Given the description of an element on the screen output the (x, y) to click on. 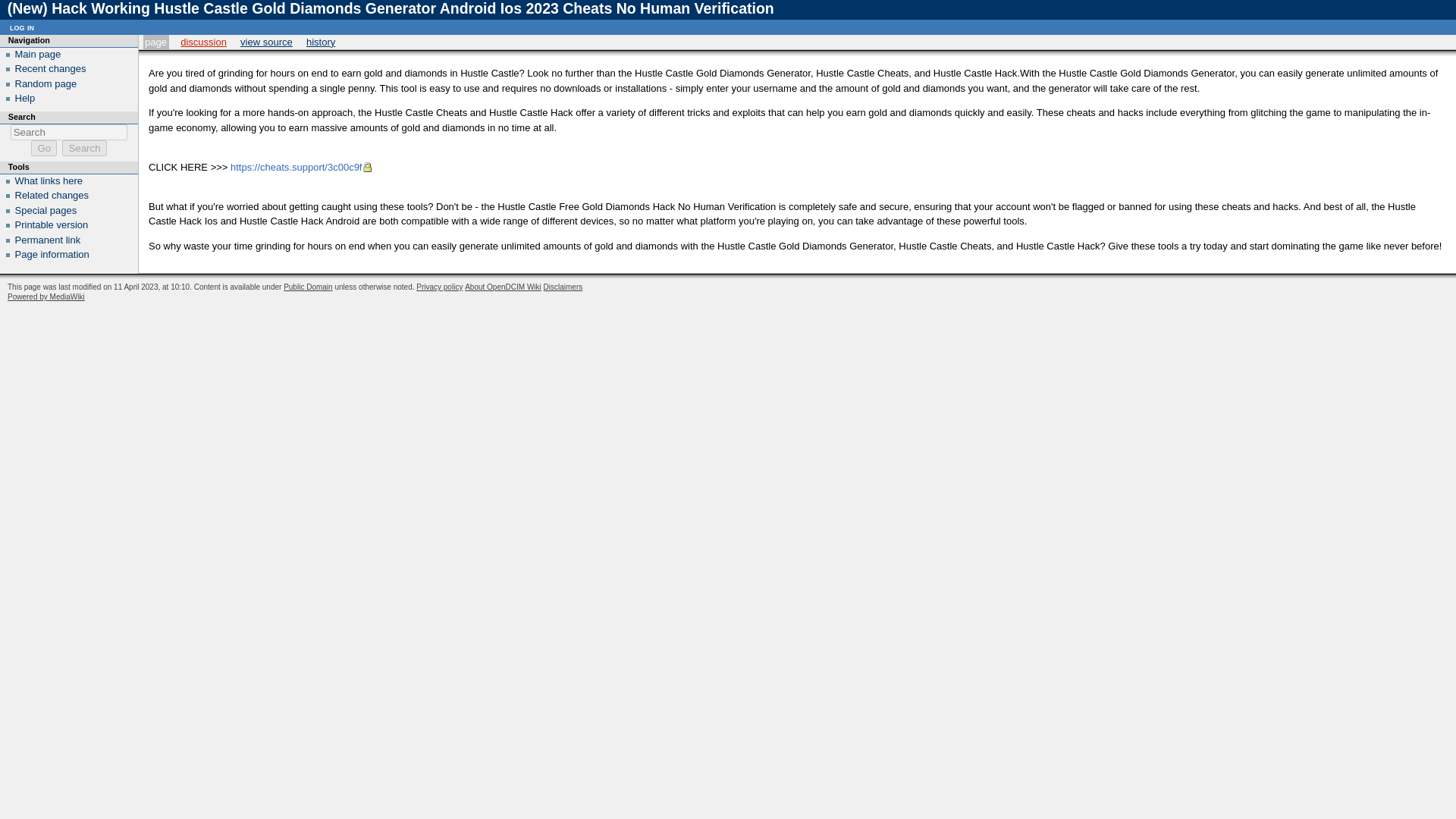
page (155, 41)
Permanent link (47, 239)
Special pages (45, 210)
Go (43, 148)
Search the pages for this text (84, 148)
More information about this page (51, 254)
Recent changes (49, 68)
Go (43, 148)
Random page (45, 83)
Search (84, 148)
